Given the description of an element on the screen output the (x, y) to click on. 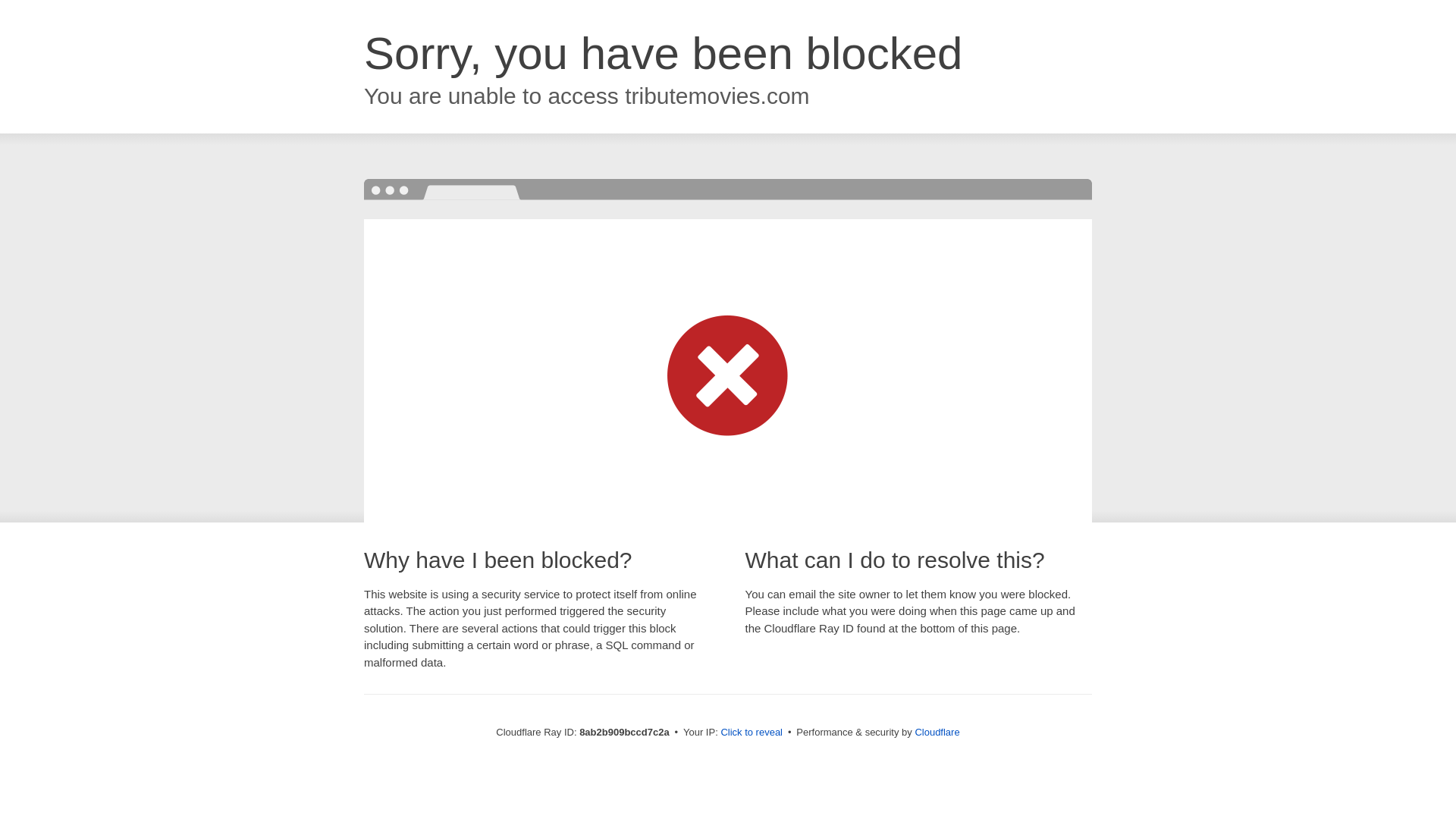
Cloudflare (936, 731)
Click to reveal (751, 732)
